Given the description of an element on the screen output the (x, y) to click on. 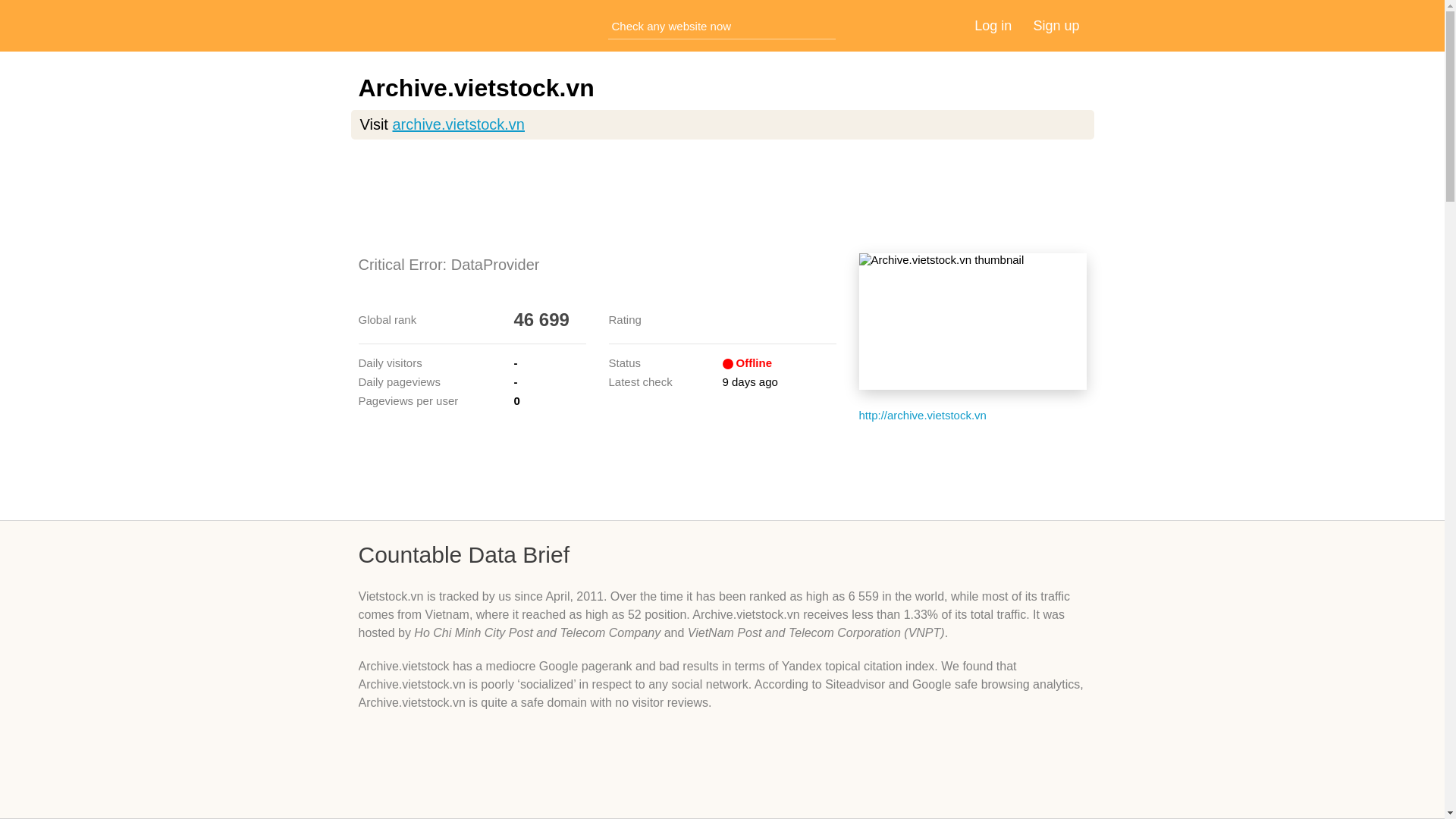
archive.vietstock.vn (457, 124)
Archive.vietstock.vn thumbnail (972, 321)
Log in (992, 25)
Sign up (1056, 25)
